Given the description of an element on the screen output the (x, y) to click on. 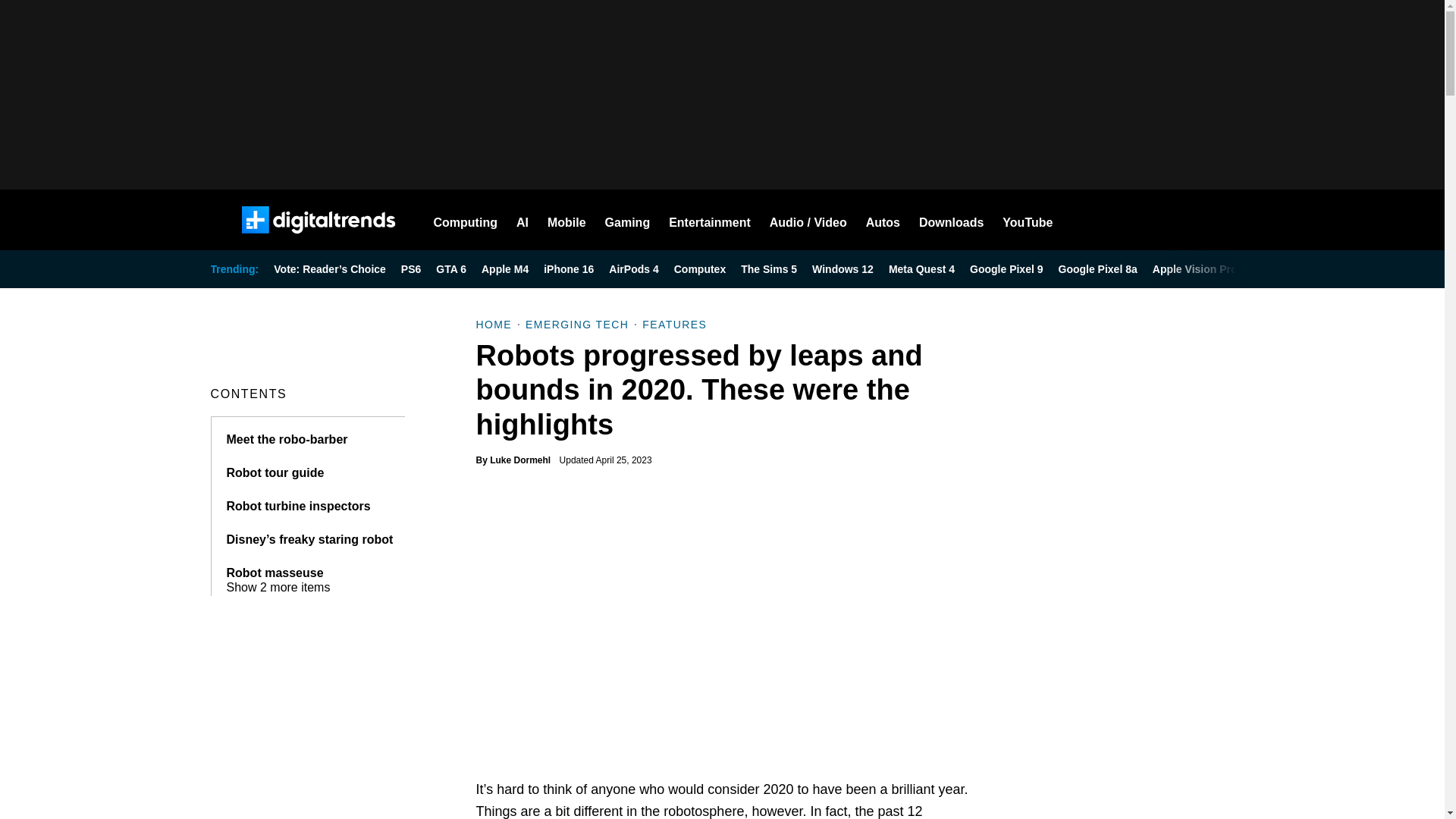
Computing (465, 219)
Downloads (951, 219)
Entertainment (709, 219)
